Given the description of an element on the screen output the (x, y) to click on. 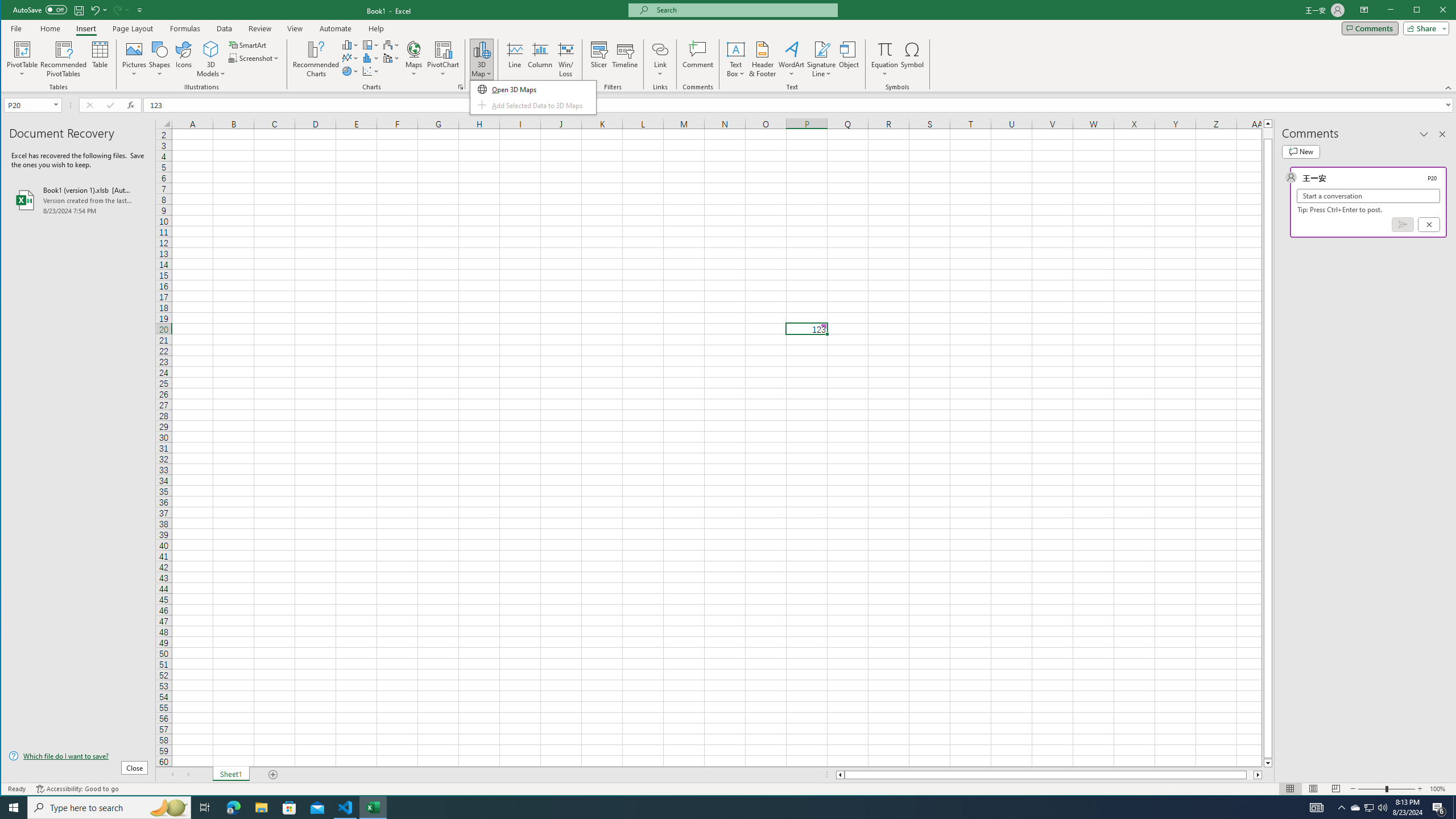
PivotTable (22, 59)
User Promoted Notification Area (1368, 807)
Maps (413, 59)
Screenshot (254, 57)
3D Map (481, 48)
Equation (884, 48)
Icons (183, 59)
Action Center, 6 new notifications (1439, 807)
PivotChart (443, 59)
